Given the description of an element on the screen output the (x, y) to click on. 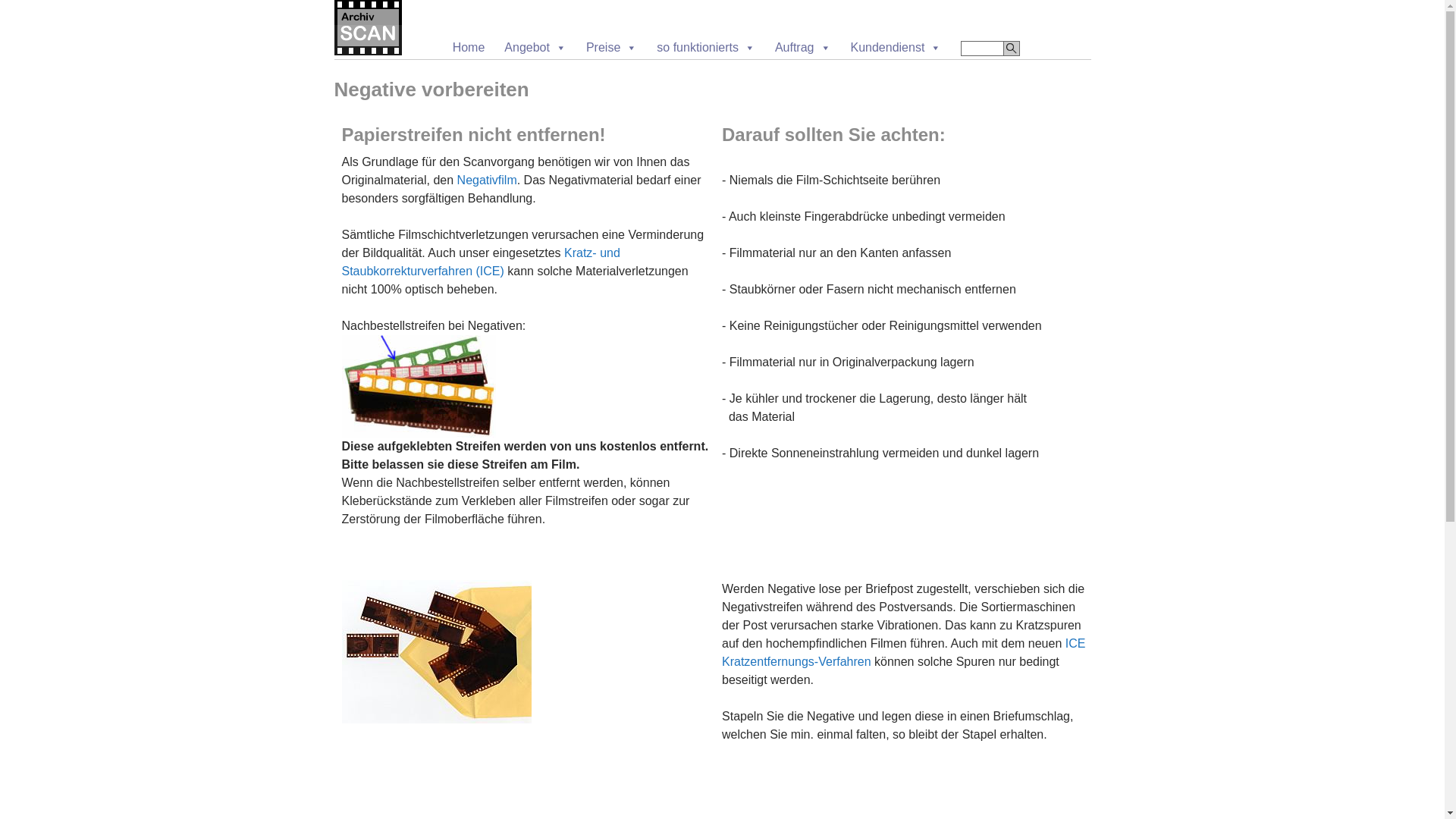
Angebot Element type: text (535, 47)
Kundendienst Element type: text (895, 47)
so funktionierts Element type: text (705, 47)
Kratz- und Staubkorrekturverfahren (ICE) Element type: text (480, 261)
SPRINGE ZUM INHALT Element type: text (706, 24)
Preise Element type: text (611, 47)
Auftrag Element type: text (802, 47)
Home Element type: text (468, 47)
Negativfilm Element type: text (487, 179)
ICE Kratzentfernungs-Verfahren Element type: text (903, 652)
